Given the description of an element on the screen output the (x, y) to click on. 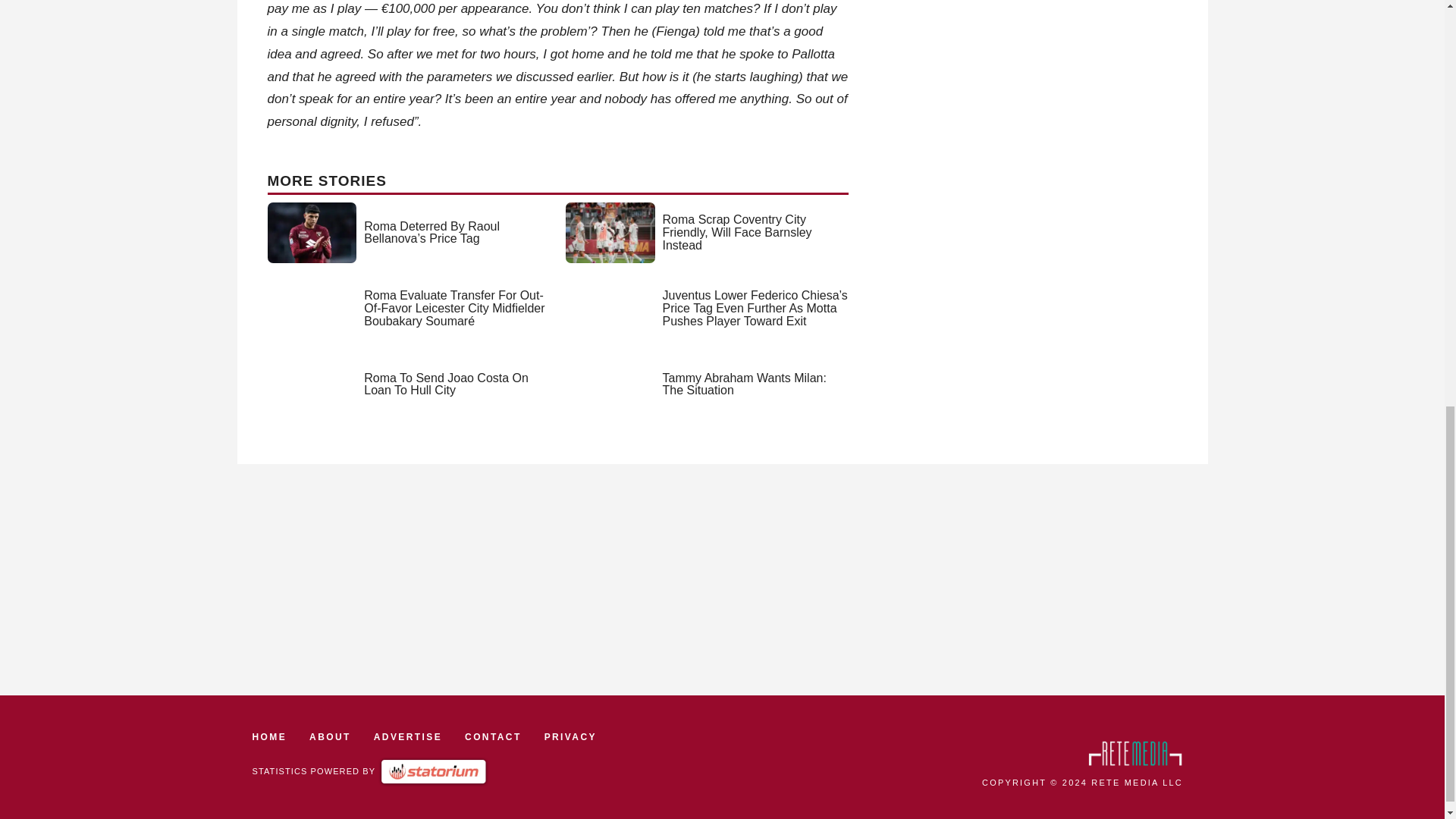
HOME (268, 737)
PRIVACY (570, 737)
CONTACT (492, 737)
ADVERTISE (408, 737)
Roma To Send Joao Costa On Loan To Hull City (446, 384)
Tammy Abraham Wants Milan: The Situation (744, 384)
ABOUT (329, 737)
